Given the description of an element on the screen output the (x, y) to click on. 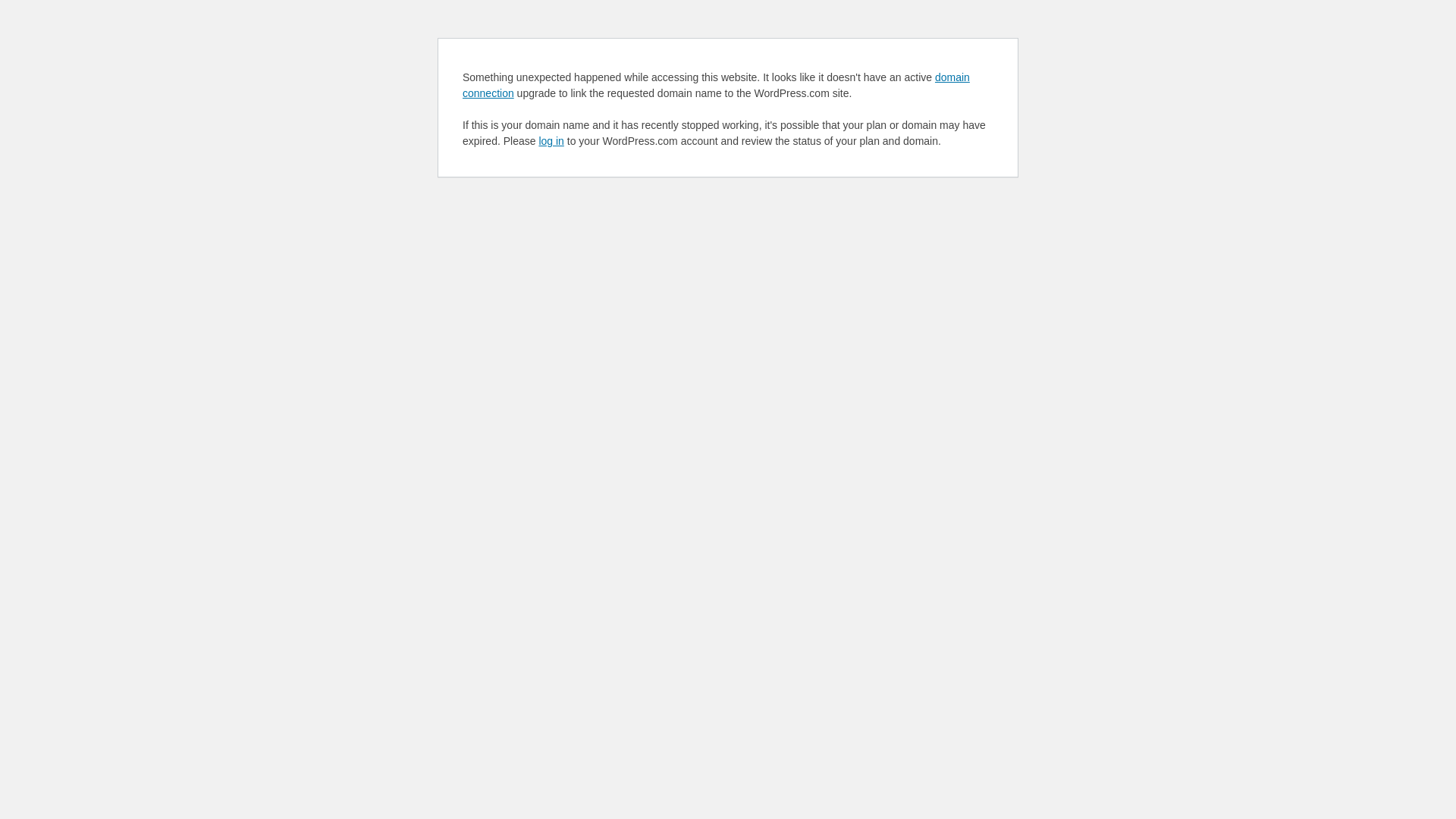
log in Element type: text (550, 140)
domain connection Element type: text (715, 85)
